Given the description of an element on the screen output the (x, y) to click on. 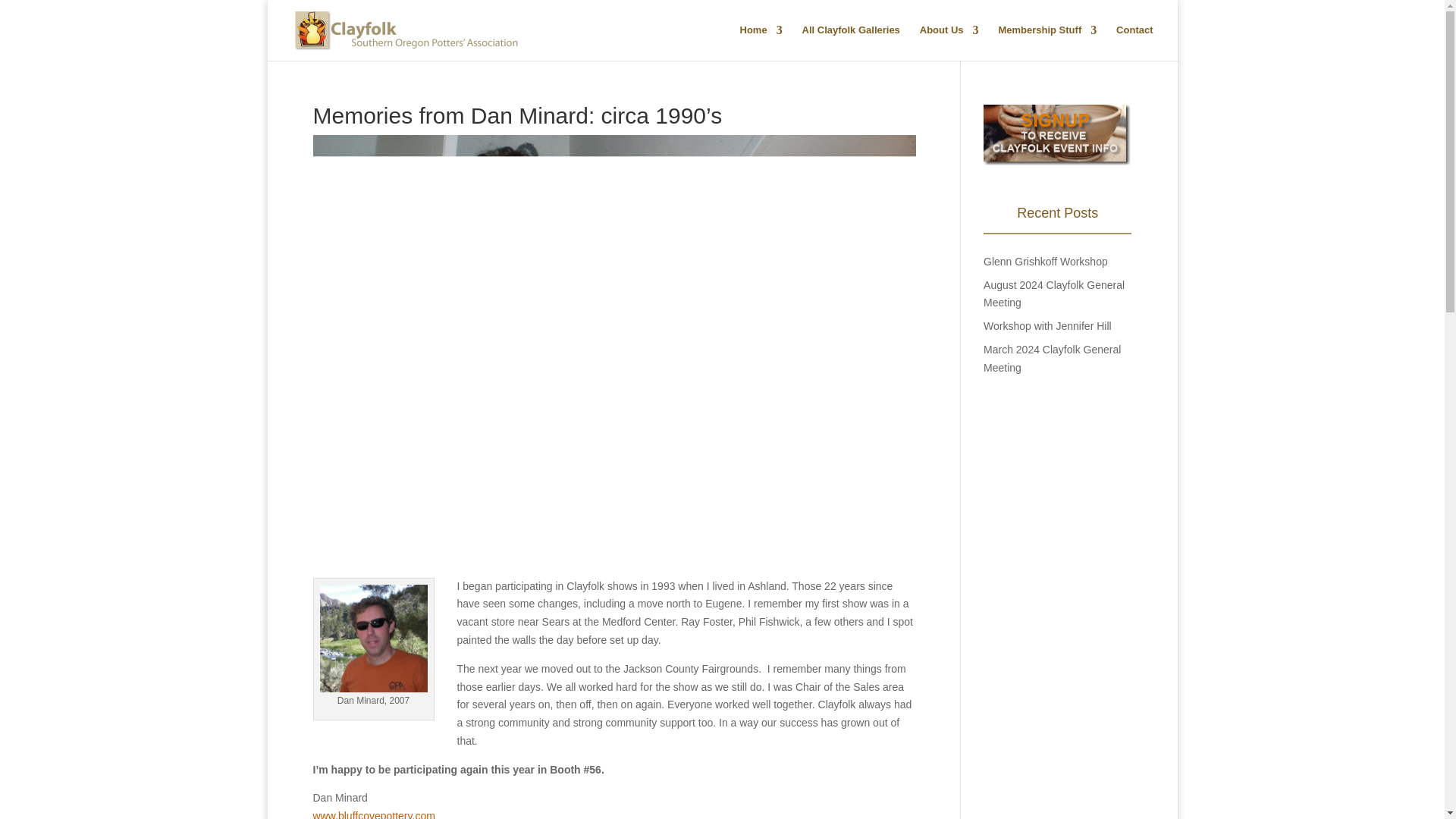
All Clayfolk Galleries (850, 42)
Membership Stuff (1046, 42)
About Us (949, 42)
Home (761, 42)
